Given the description of an element on the screen output the (x, y) to click on. 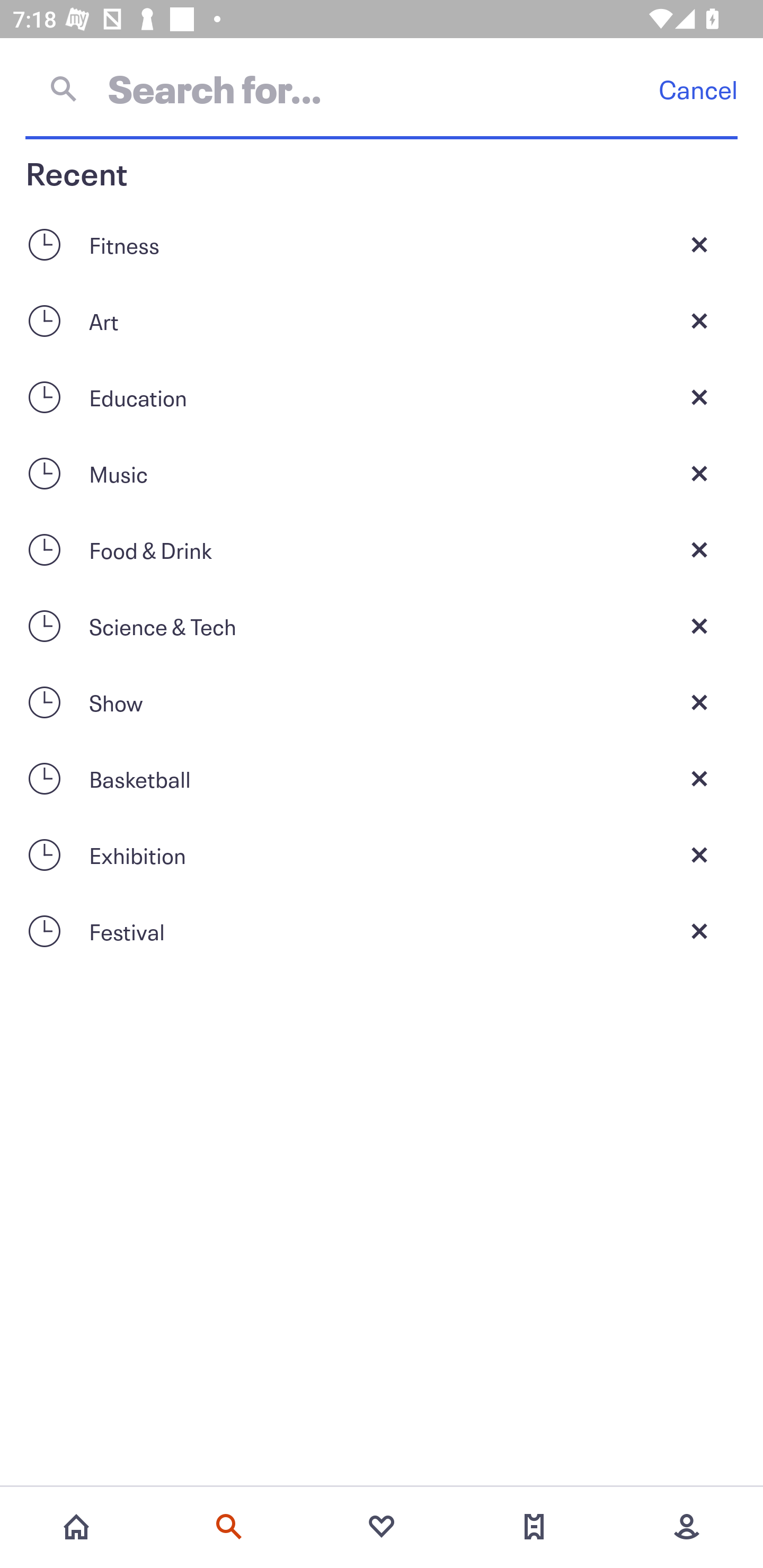
Cancel Search for… (381, 88)
Cancel (697, 89)
Fitness Close current screen (381, 244)
Close current screen (699, 244)
Art Close current screen (381, 320)
Close current screen (699, 320)
Education Close current screen (381, 397)
Close current screen (699, 397)
Music Close current screen (381, 473)
Close current screen (699, 473)
Food & Drink Close current screen (381, 549)
Close current screen (699, 549)
Science & Tech Close current screen (381, 626)
Close current screen (699, 626)
Show Close current screen (381, 702)
Close current screen (699, 702)
Basketball Close current screen (381, 778)
Close current screen (699, 778)
Exhibition Close current screen (381, 854)
Close current screen (699, 854)
Festival Close current screen (381, 931)
Close current screen (699, 931)
Home (76, 1526)
Search events (228, 1526)
Favorites (381, 1526)
Tickets (533, 1526)
More (686, 1526)
